Given the description of an element on the screen output the (x, y) to click on. 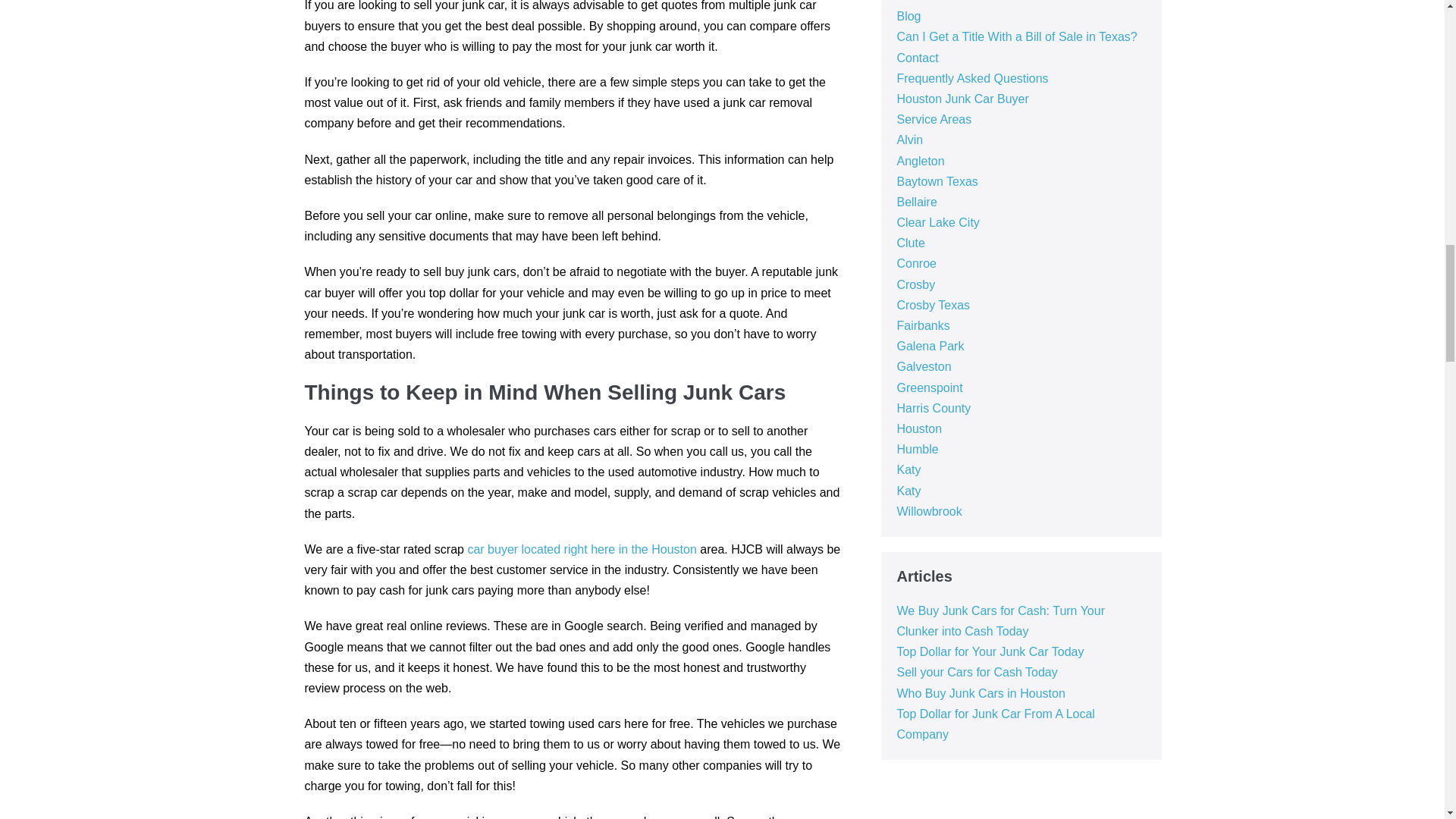
car buyer located right here in the Houston (581, 549)
